Given the description of an element on the screen output the (x, y) to click on. 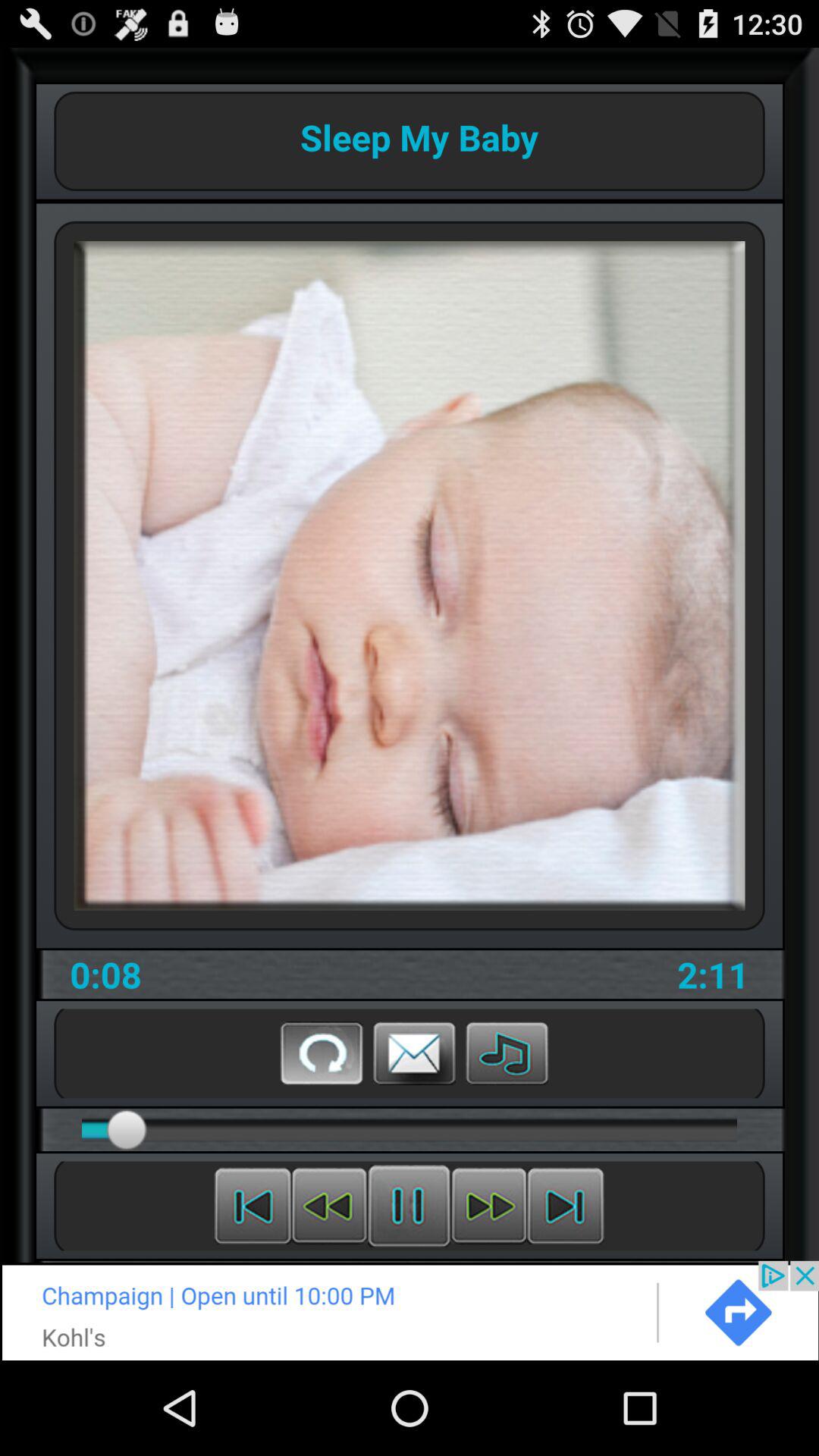
pause play (565, 1205)
